Given the description of an element on the screen output the (x, y) to click on. 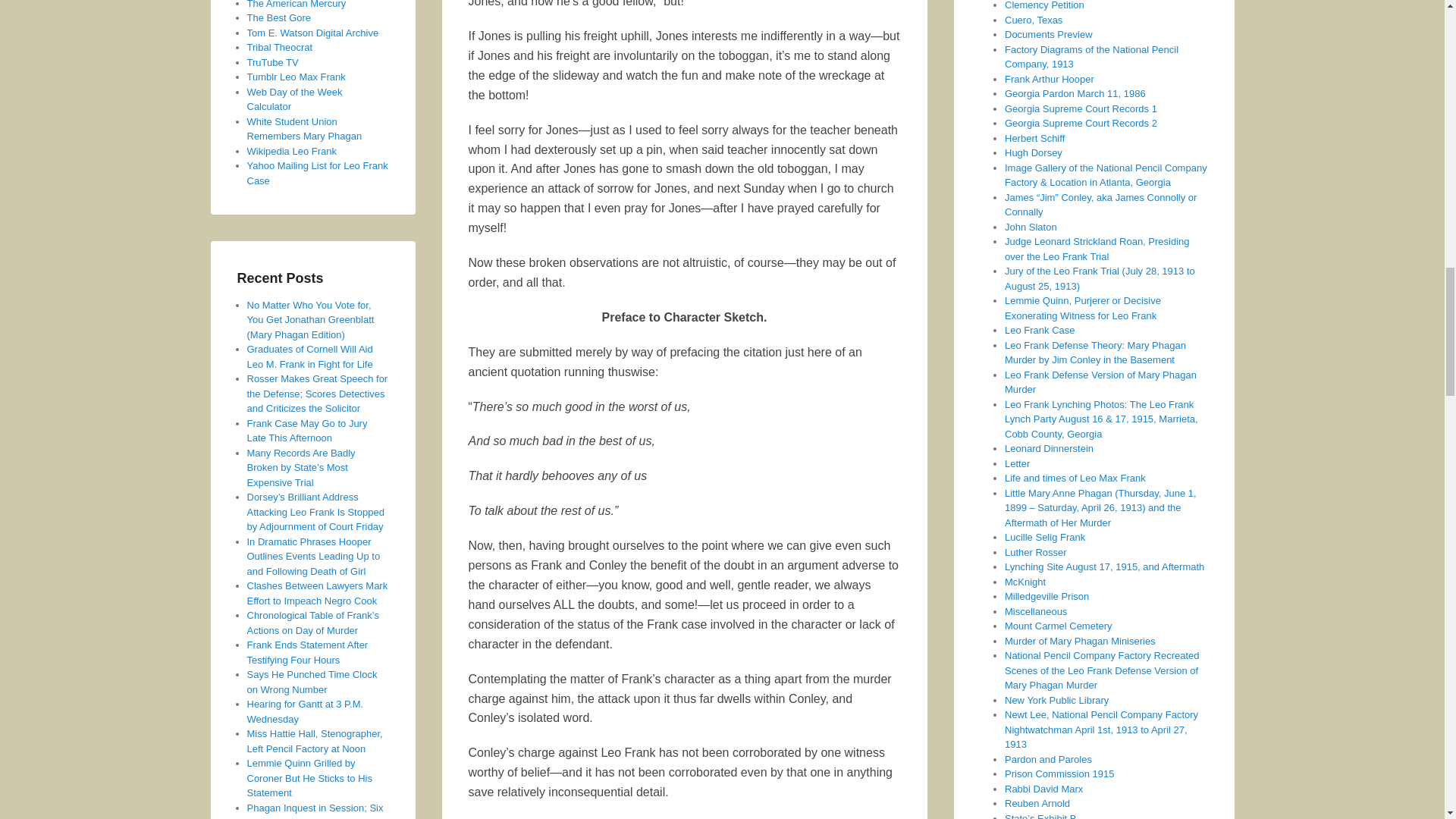
Christian Perspective on Leo Frank Case (280, 47)
